Given the description of an element on the screen output the (x, y) to click on. 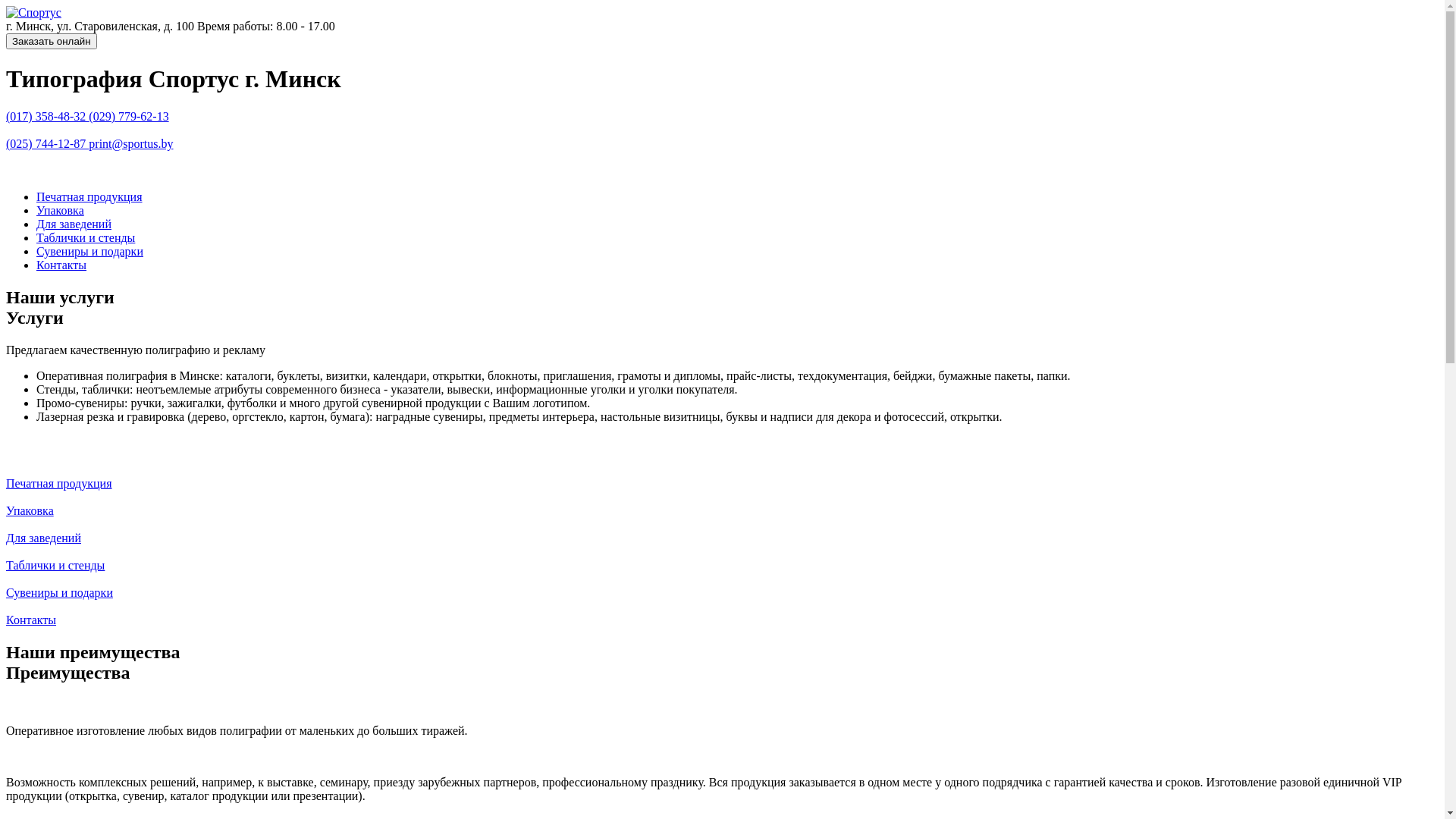
(025) 744-12-87 Element type: text (47, 143)
(029) 779-62-13 Element type: text (128, 115)
(017) 358-48-32 Element type: text (47, 115)
print@sportus.by Element type: text (130, 143)
